Given the description of an element on the screen output the (x, y) to click on. 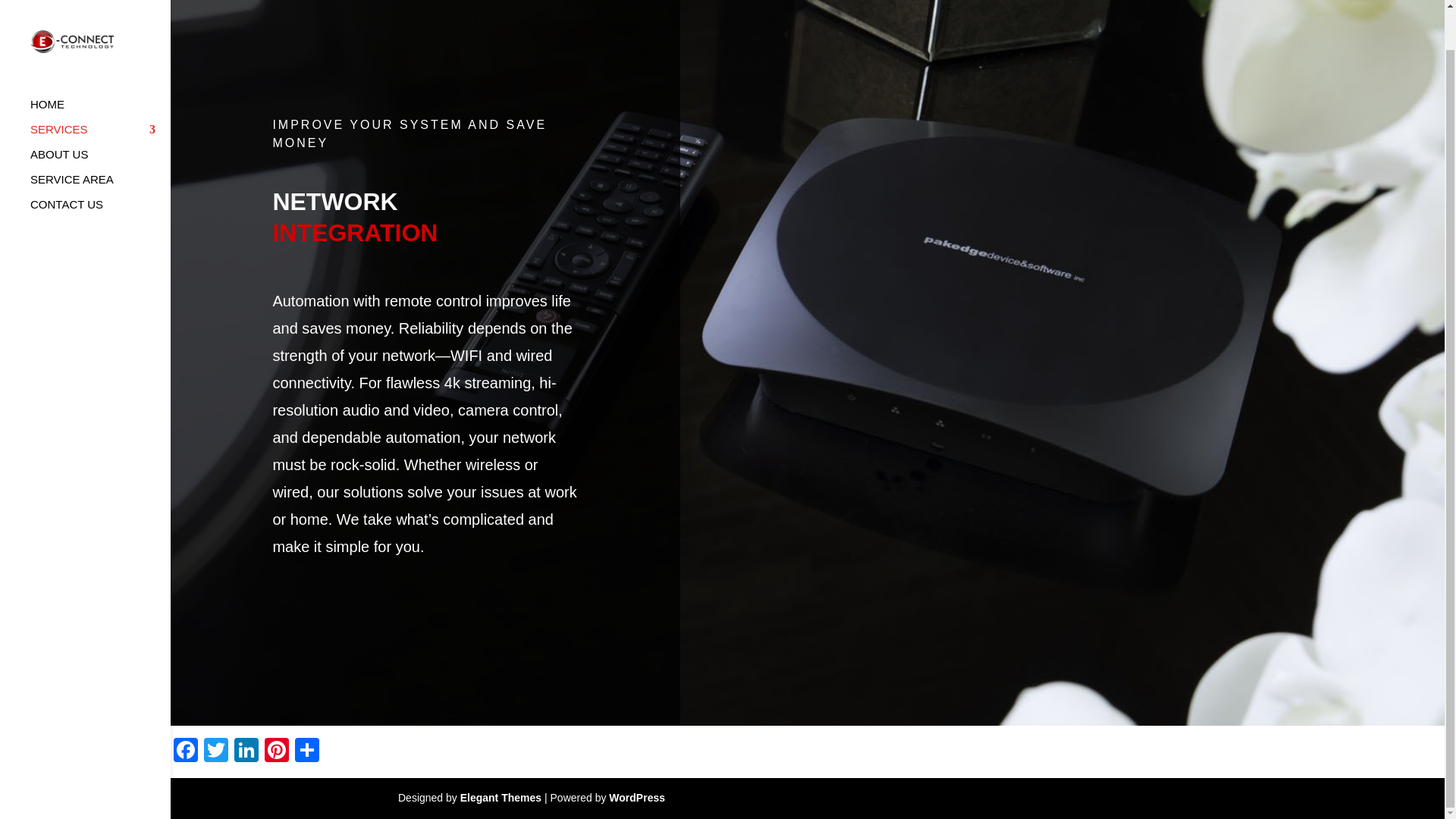
HOME (100, 69)
Twitter (215, 751)
LinkedIn (246, 751)
Premium WordPress Themes (500, 797)
WordPress (636, 797)
Elegant Themes (500, 797)
LinkedIn (246, 751)
Facebook (185, 751)
SERVICE AREA (100, 145)
SERVICES (100, 94)
Pinterest (277, 751)
Facebook (185, 751)
ABOUT US (100, 119)
Twitter (215, 751)
CONTACT US (100, 170)
